Given the description of an element on the screen output the (x, y) to click on. 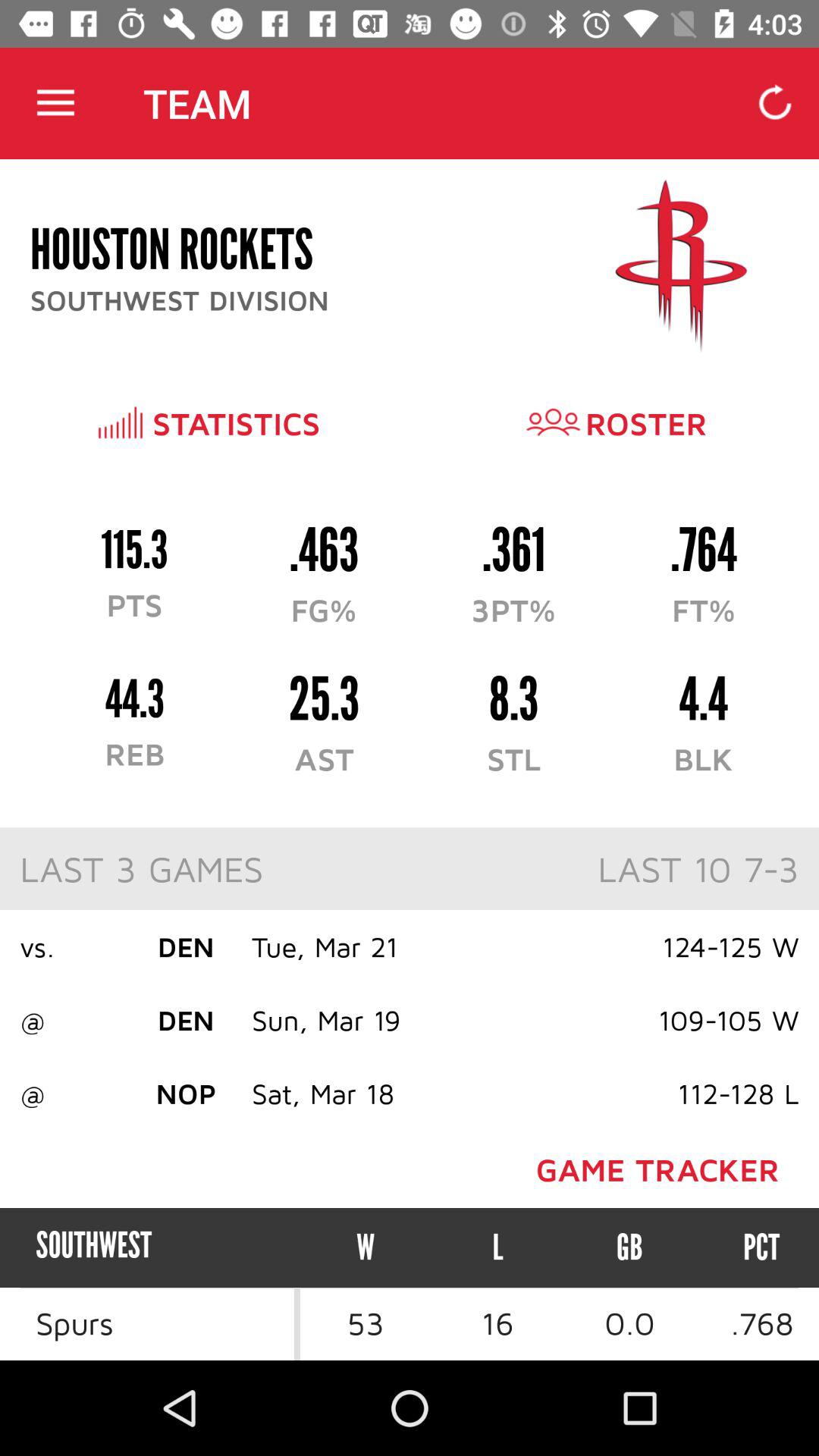
turn on icon next to the pct item (629, 1247)
